Given the description of an element on the screen output the (x, y) to click on. 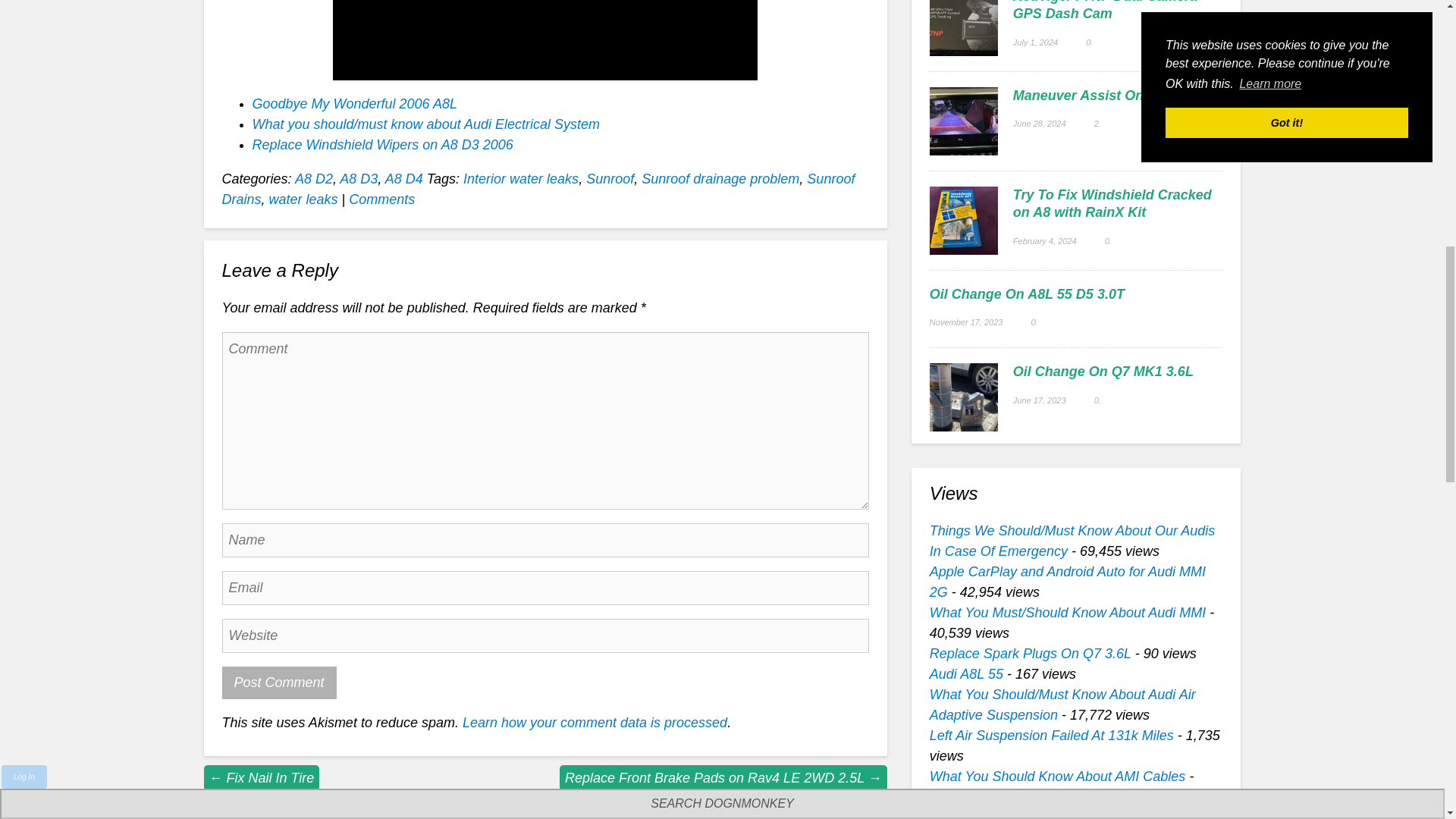
Post Comment (278, 682)
